Given the description of an element on the screen output the (x, y) to click on. 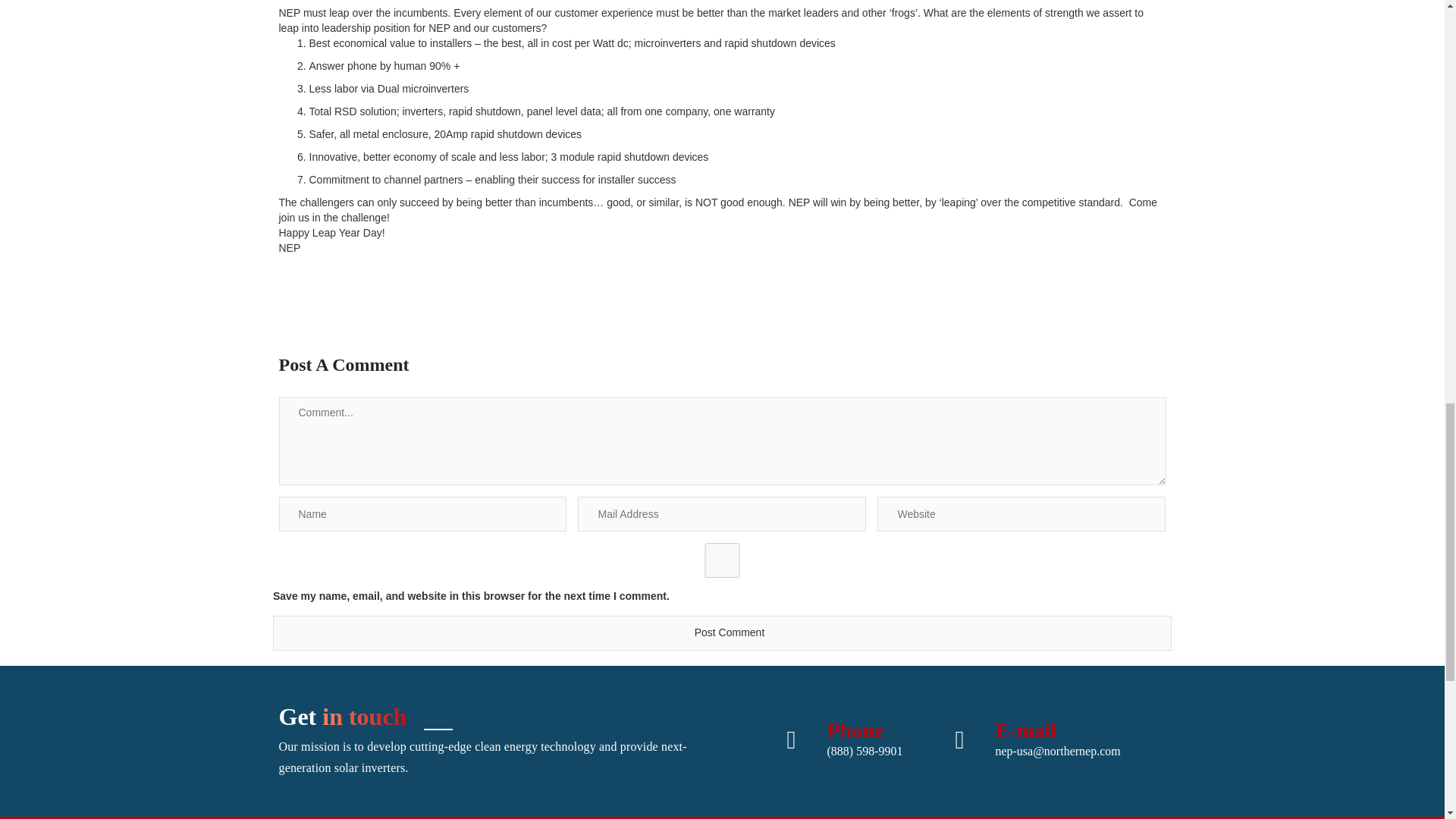
Post Comment (722, 632)
Post Comment (722, 632)
yes (722, 560)
